Given the description of an element on the screen output the (x, y) to click on. 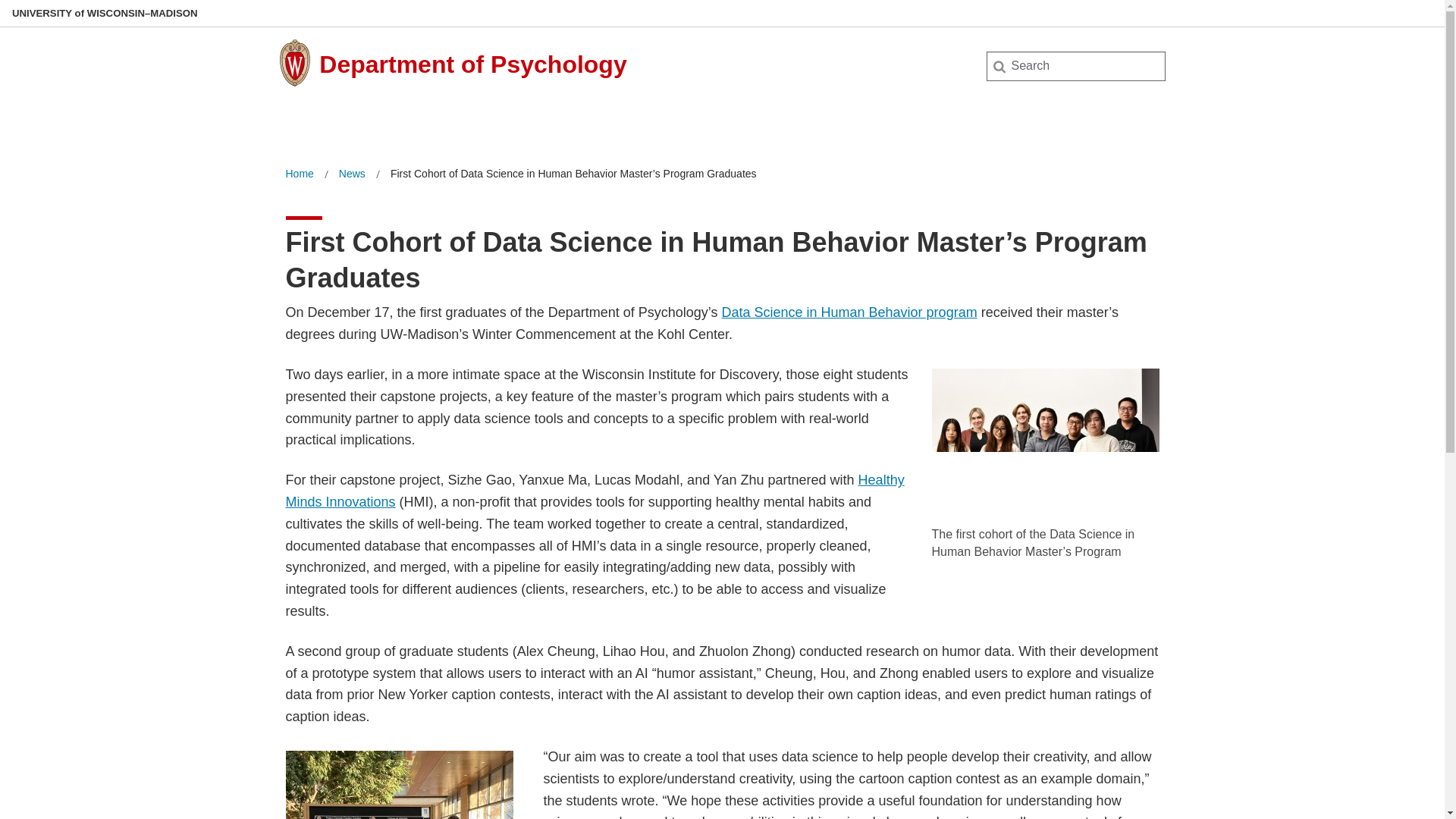
News (352, 173)
Search (37, 16)
Home (299, 173)
Skip to main content (3, 3)
Department of Psychology (472, 63)
